Given the description of an element on the screen output the (x, y) to click on. 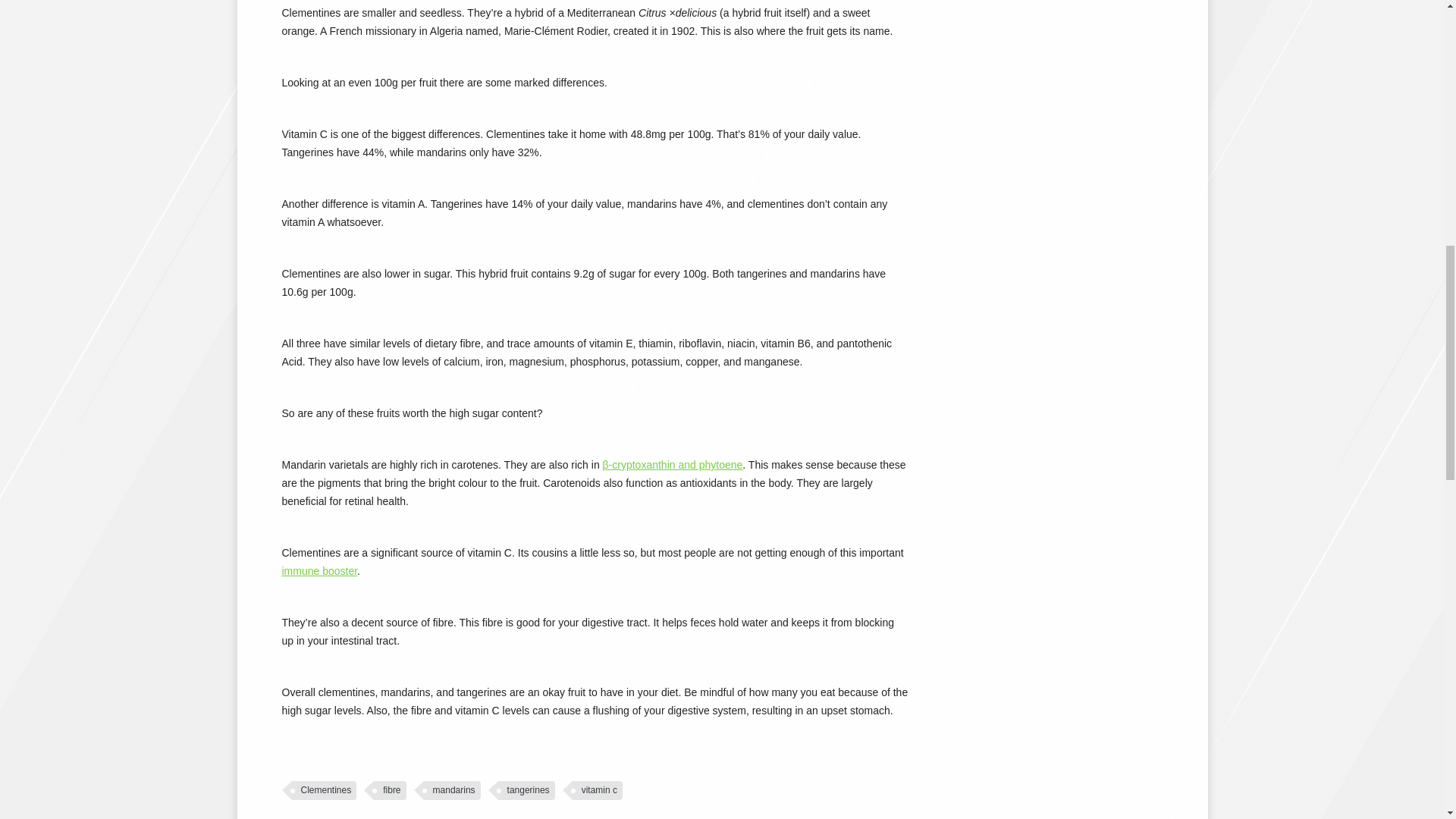
mandarins (451, 790)
fibre (390, 790)
Clementines (323, 790)
immune booster (320, 571)
